Given the description of an element on the screen output the (x, y) to click on. 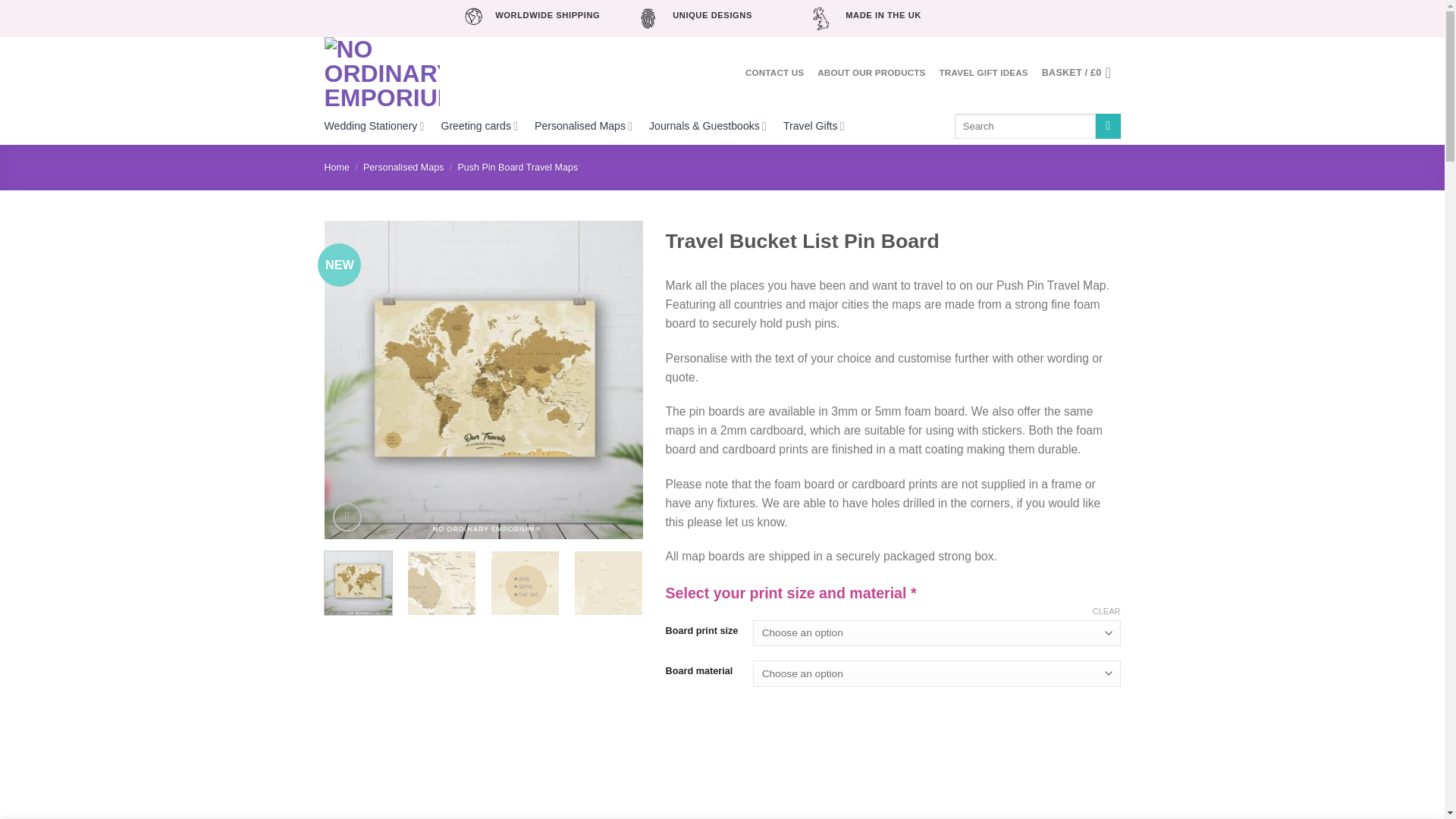
CONTACT US (774, 72)
Wedding Stationery (374, 125)
Personalised Maps (582, 125)
Basket (1081, 72)
Greeting cards (479, 125)
TRAVEL GIFT IDEAS (983, 72)
Zoom (347, 516)
Travel Gifts (813, 125)
ABOUT OUR PRODUCTS (870, 72)
